Given the description of an element on the screen output the (x, y) to click on. 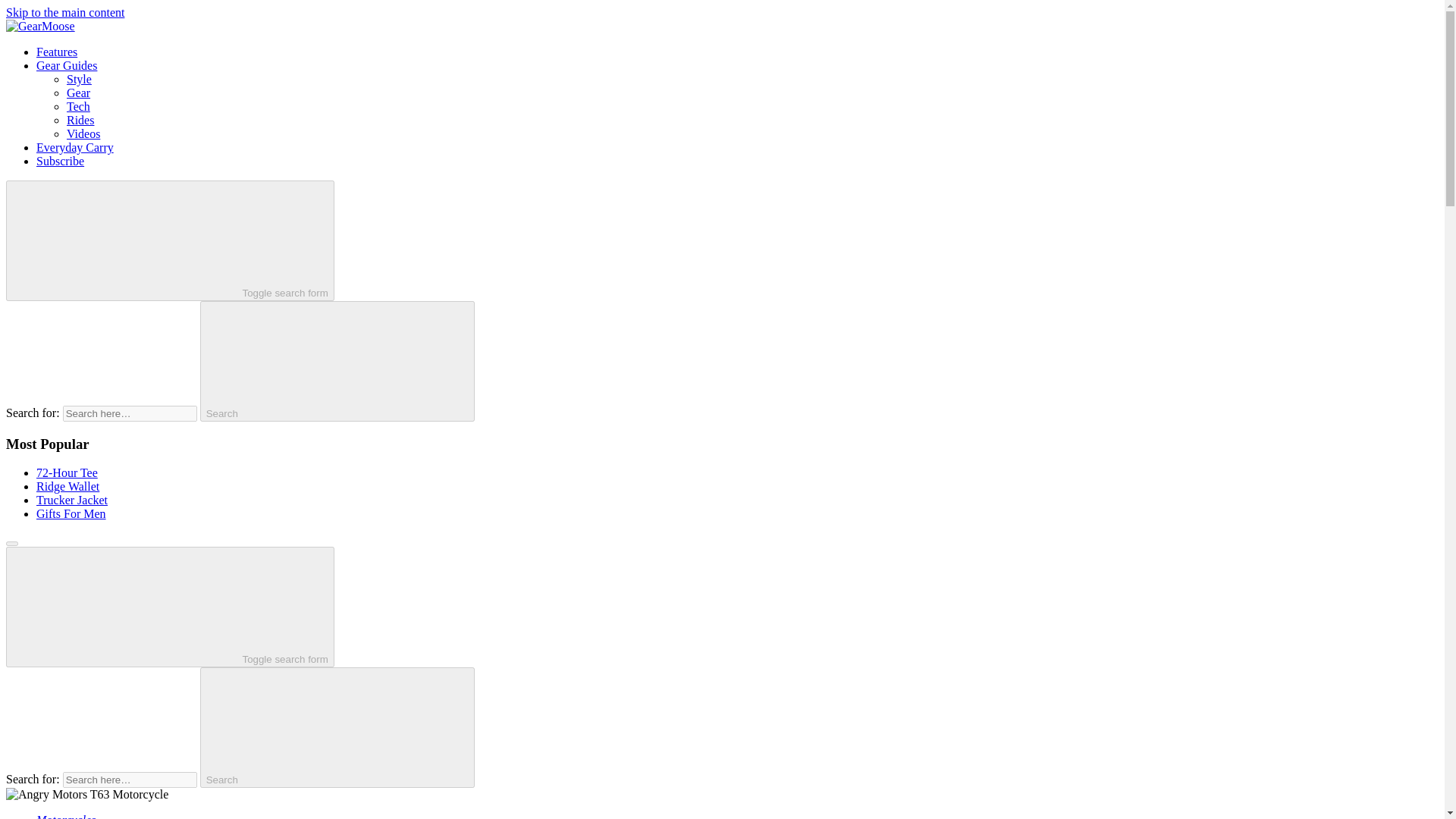
Trucker Jacket (71, 499)
Ridge Wallet (67, 486)
Search (337, 361)
Videos (83, 133)
Search (337, 727)
Everyday Carry (74, 146)
Gear (78, 92)
Toggle search form (169, 607)
72-Hour Tee (66, 472)
Style (78, 78)
Features (56, 51)
Skip to the main content (64, 11)
Tech (78, 106)
Subscribe (60, 160)
Toggle search form (169, 240)
